Given the description of an element on the screen output the (x, y) to click on. 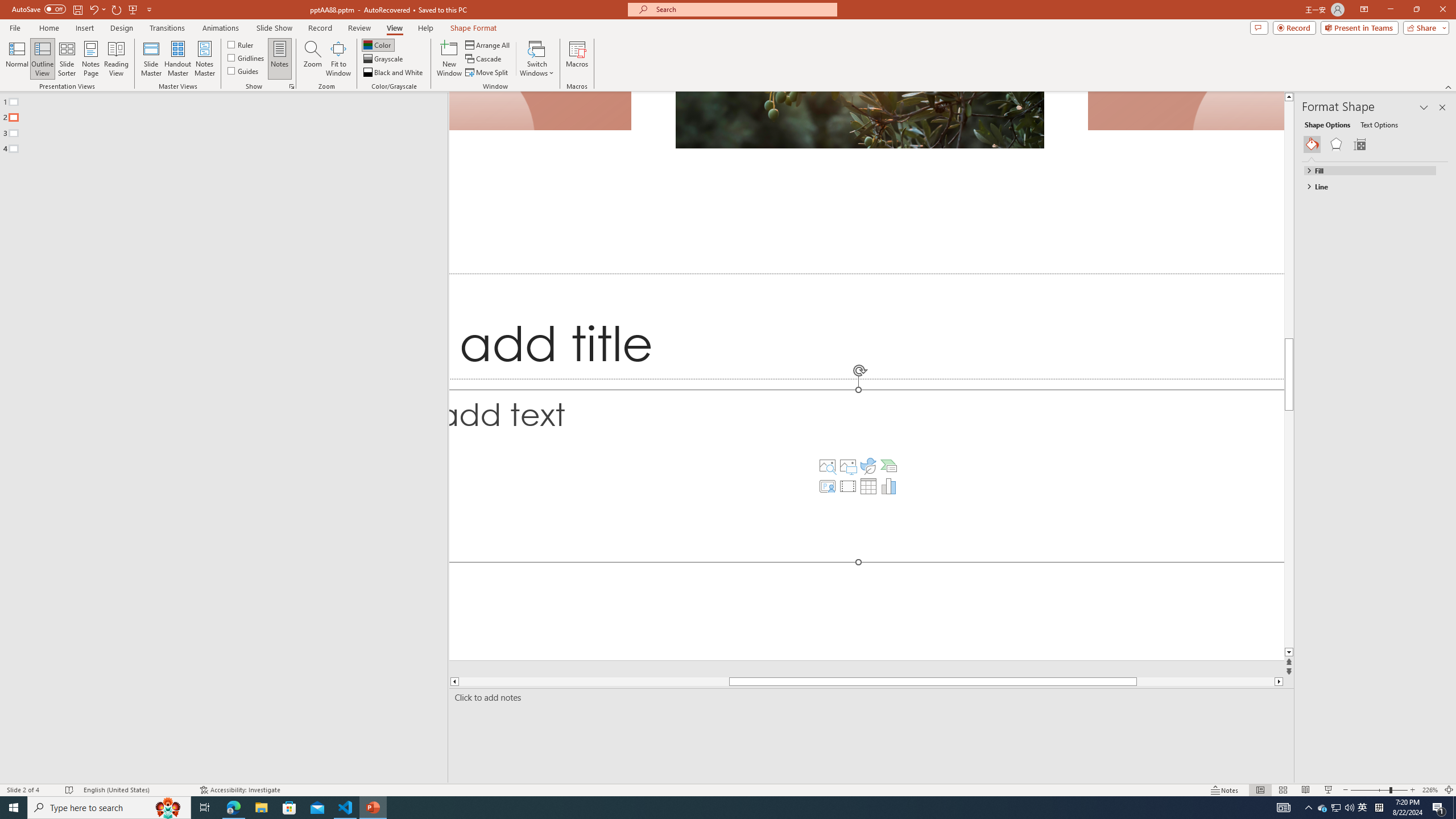
Ruler (241, 44)
Outline View (42, 58)
Handout Master (177, 58)
Fill & Line (1311, 144)
